Given the description of an element on the screen output the (x, y) to click on. 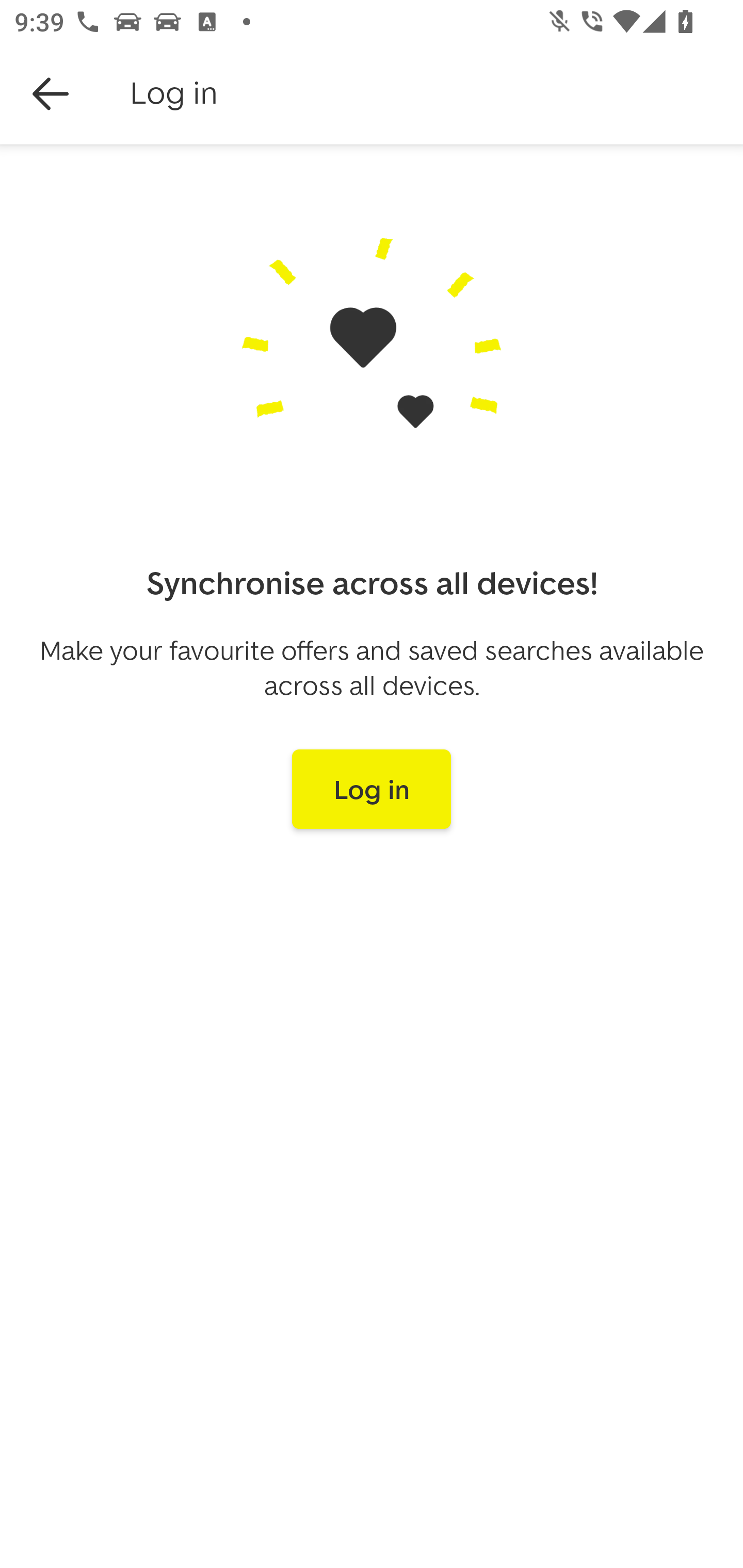
Navigate up (50, 93)
Log in (371, 789)
